Given the description of an element on the screen output the (x, y) to click on. 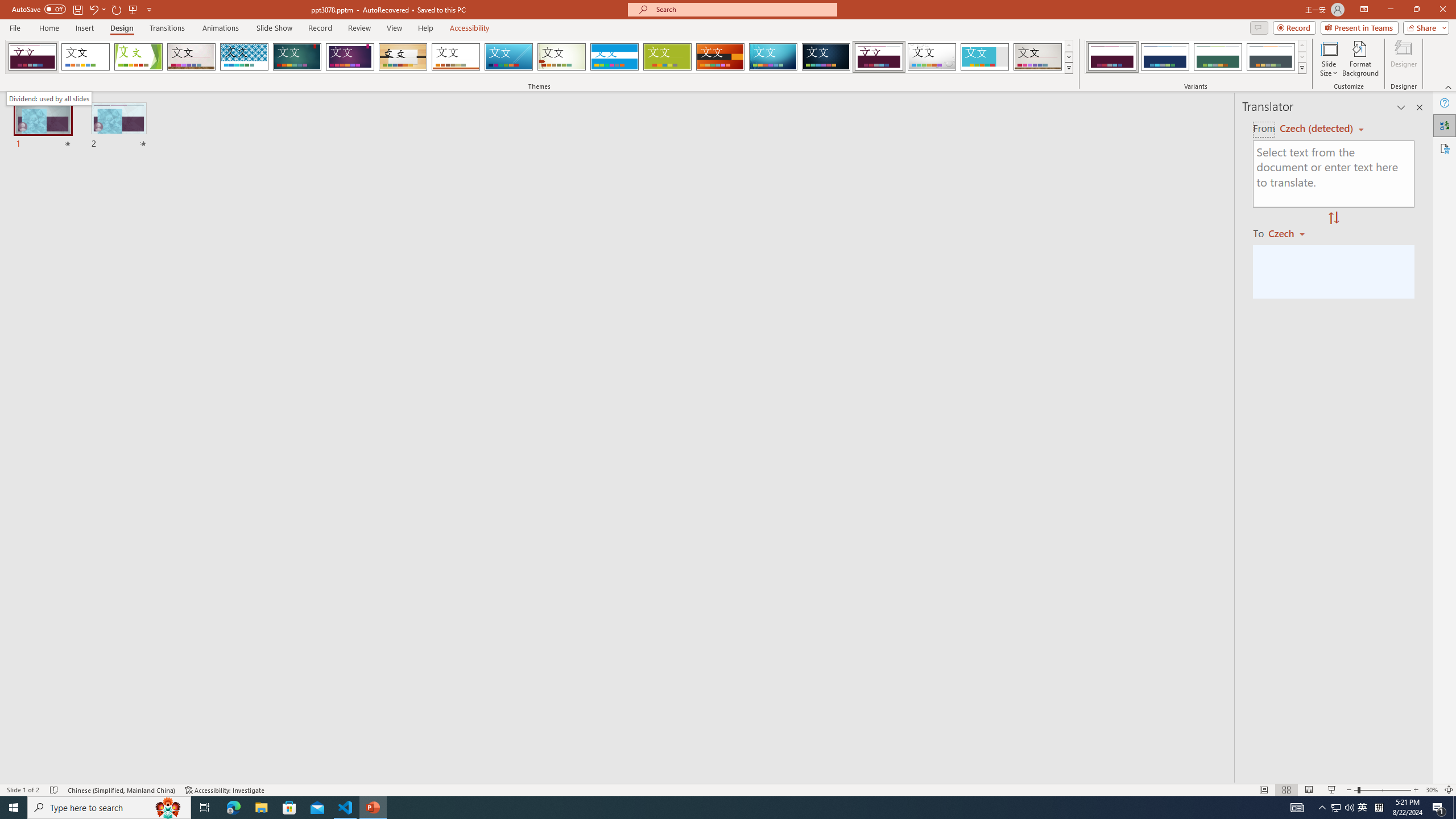
Circuit (772, 56)
Damask (826, 56)
AutomationID: SlideThemesGallery (539, 56)
Dividend: used by all slides (48, 98)
Integral (244, 56)
